Given the description of an element on the screen output the (x, y) to click on. 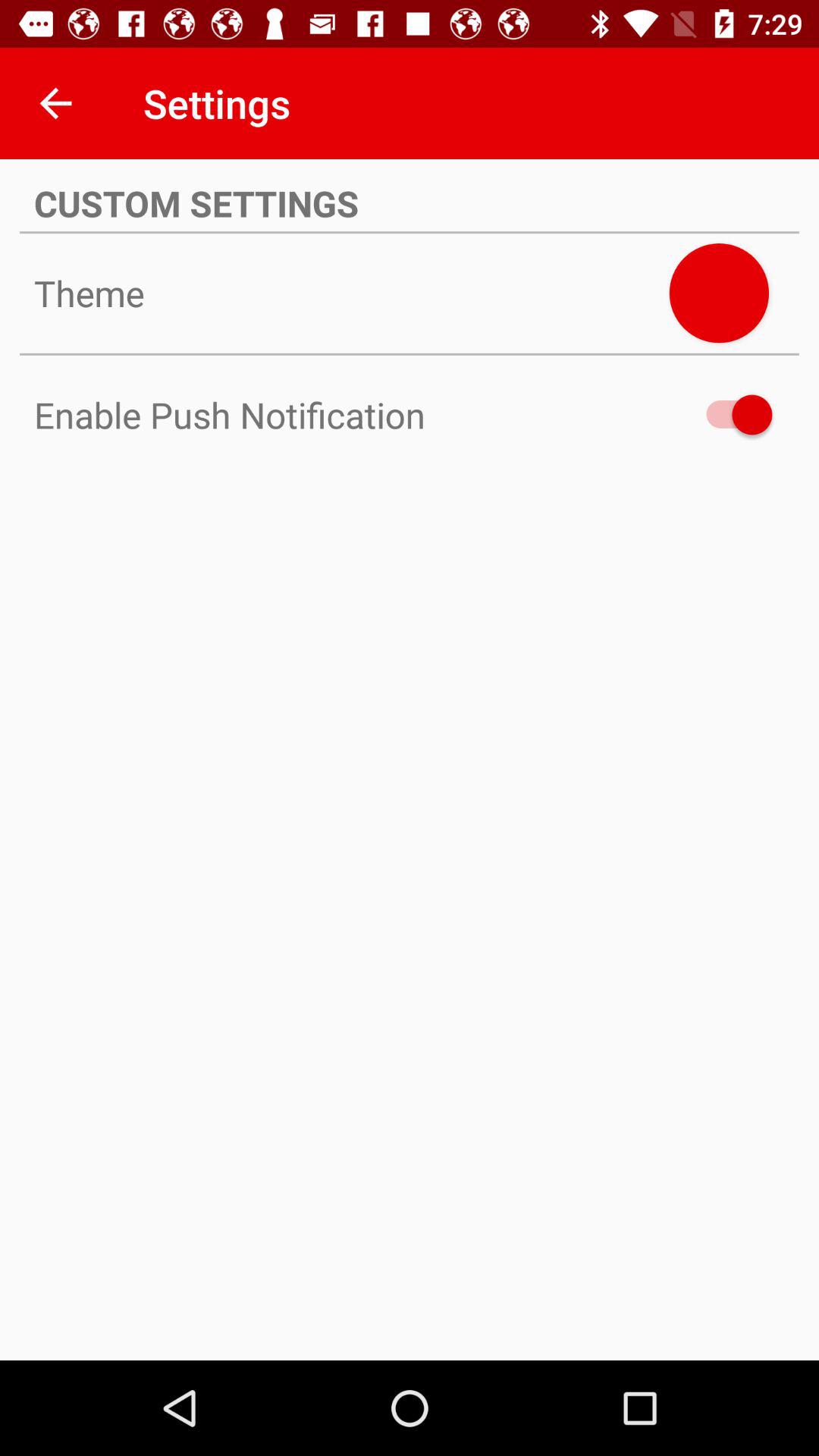
turn on the icon next to enable push notification item (731, 414)
